Given the description of an element on the screen output the (x, y) to click on. 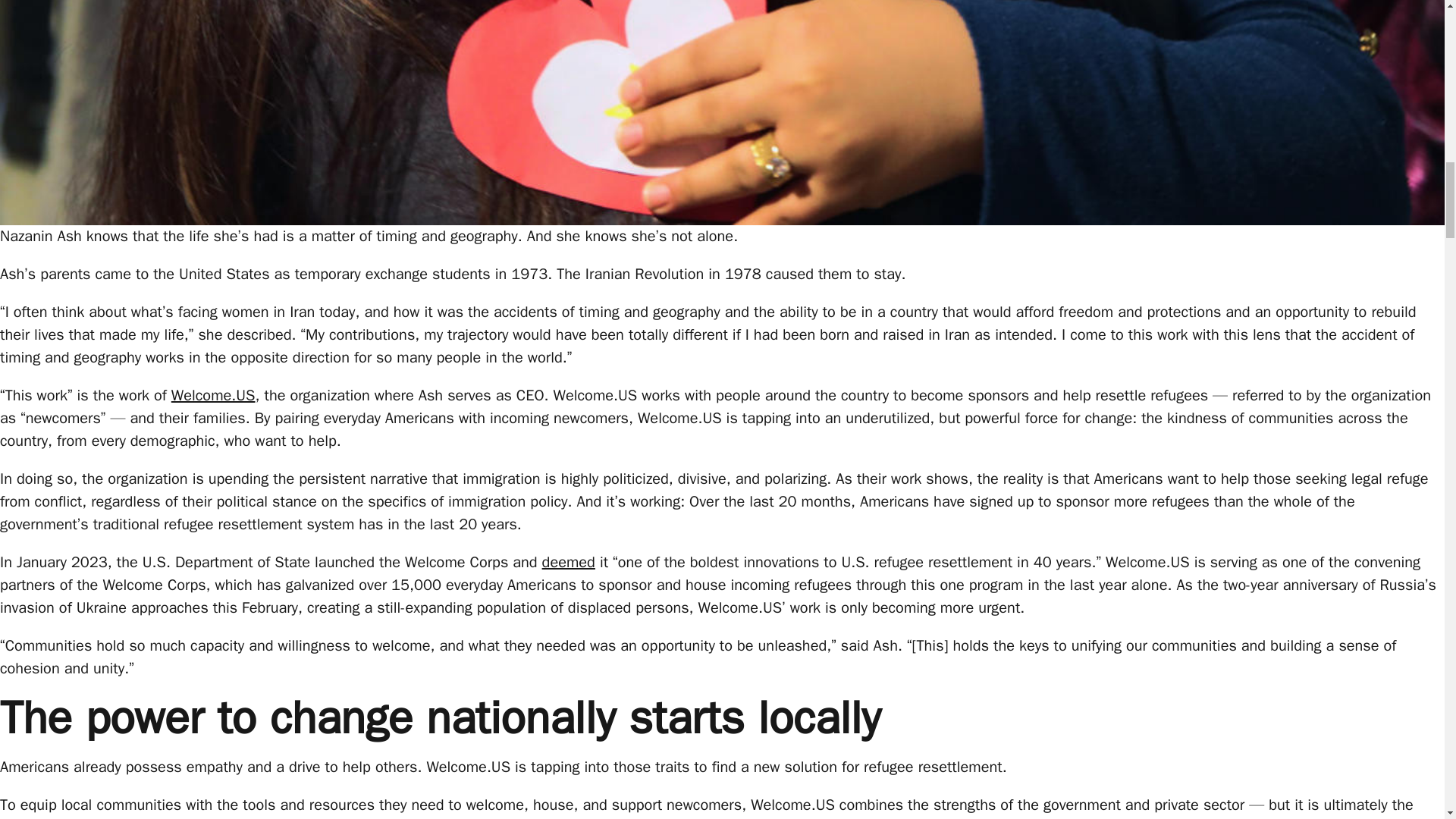
deemed (568, 561)
Welcome.US (213, 394)
